Given the description of an element on the screen output the (x, y) to click on. 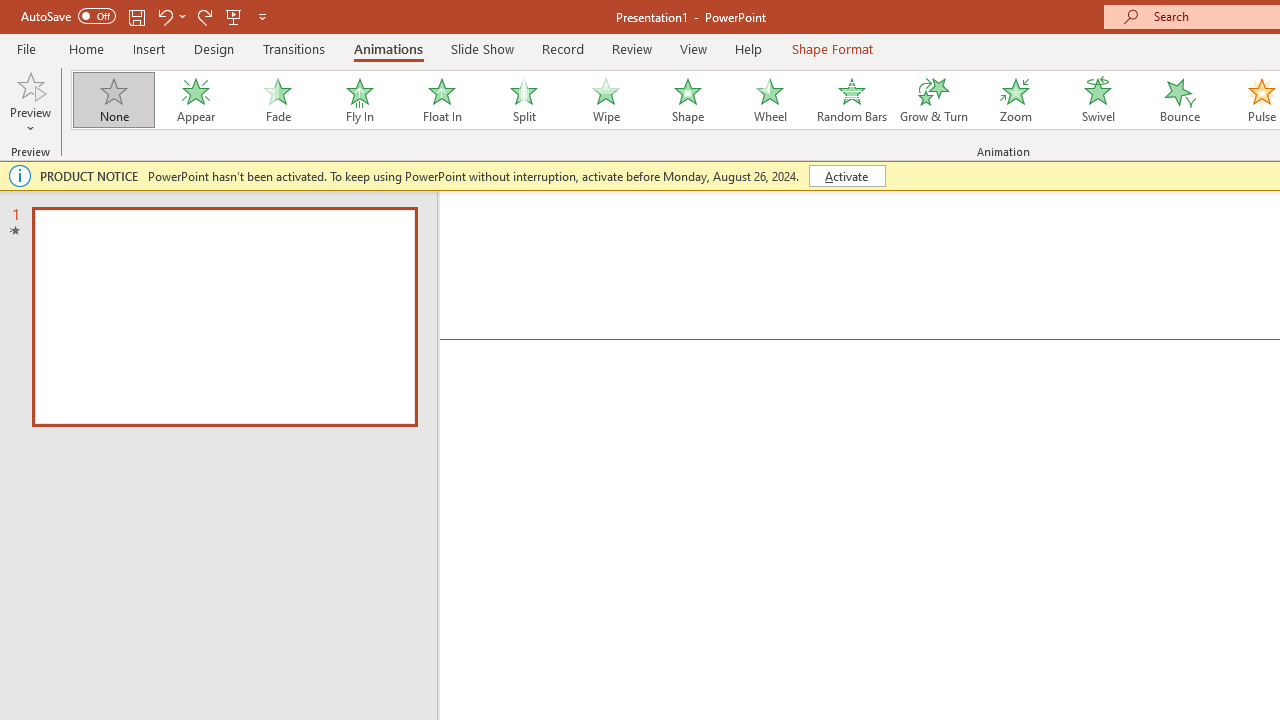
Bounce (1180, 100)
Random Bars (852, 100)
Activate (846, 175)
Float In (441, 100)
